Given the description of an element on the screen output the (x, y) to click on. 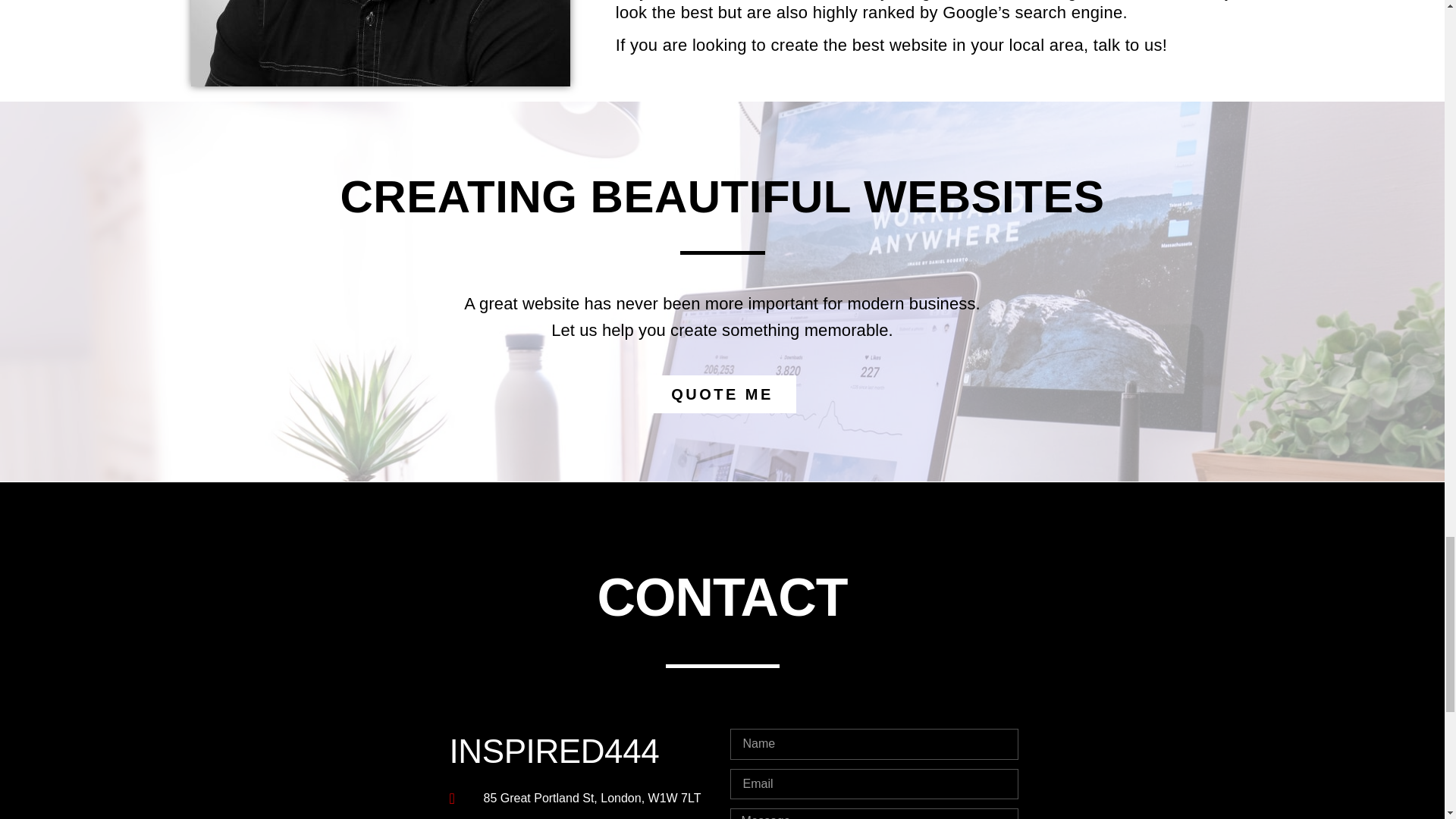
QUOTE ME (721, 394)
